Given the description of an element on the screen output the (x, y) to click on. 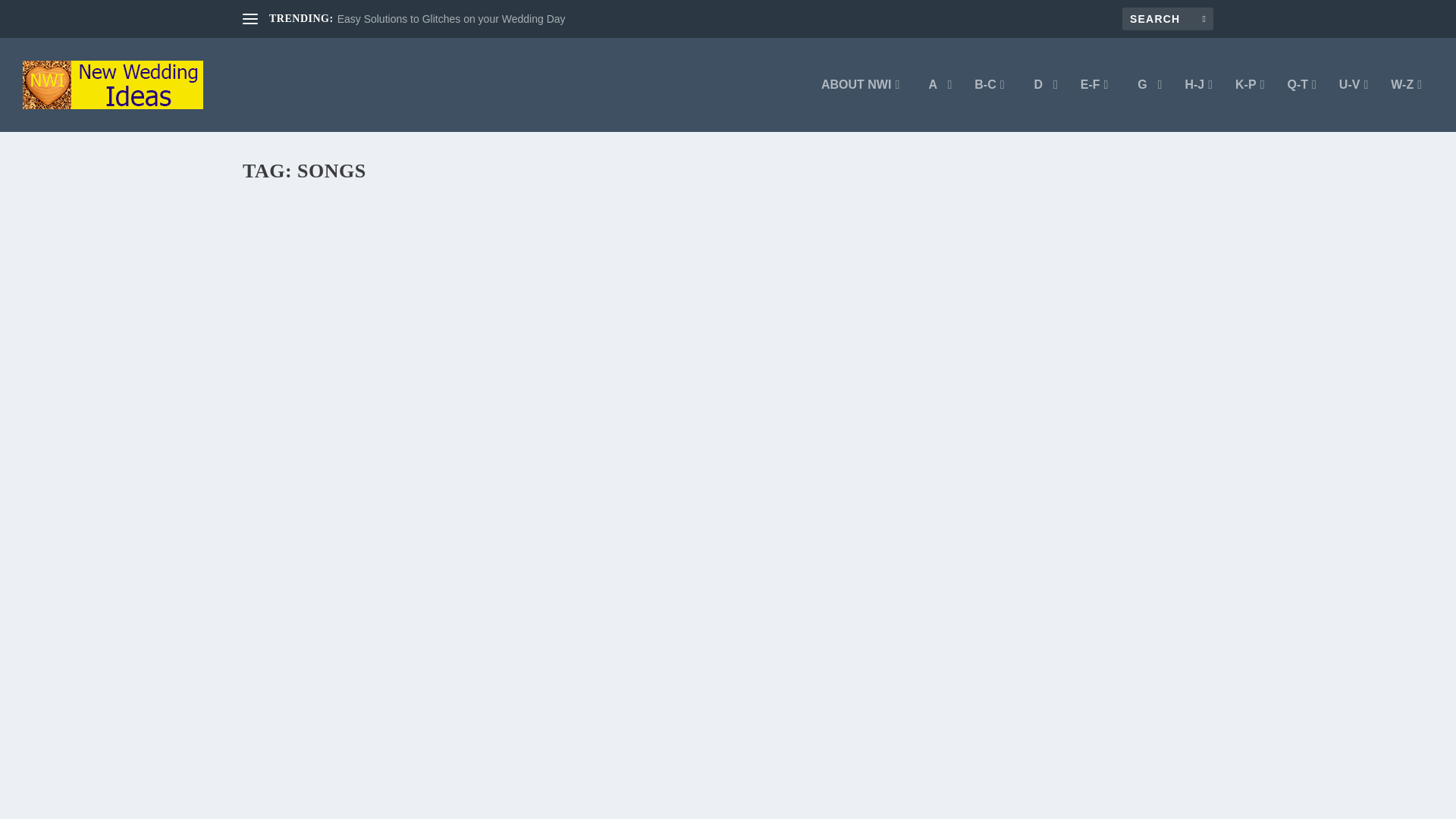
ABOUT NWI (860, 104)
Search for: (1167, 18)
Easy Solutions to Glitches on your Wedding Day (451, 19)
